Given the description of an element on the screen output the (x, y) to click on. 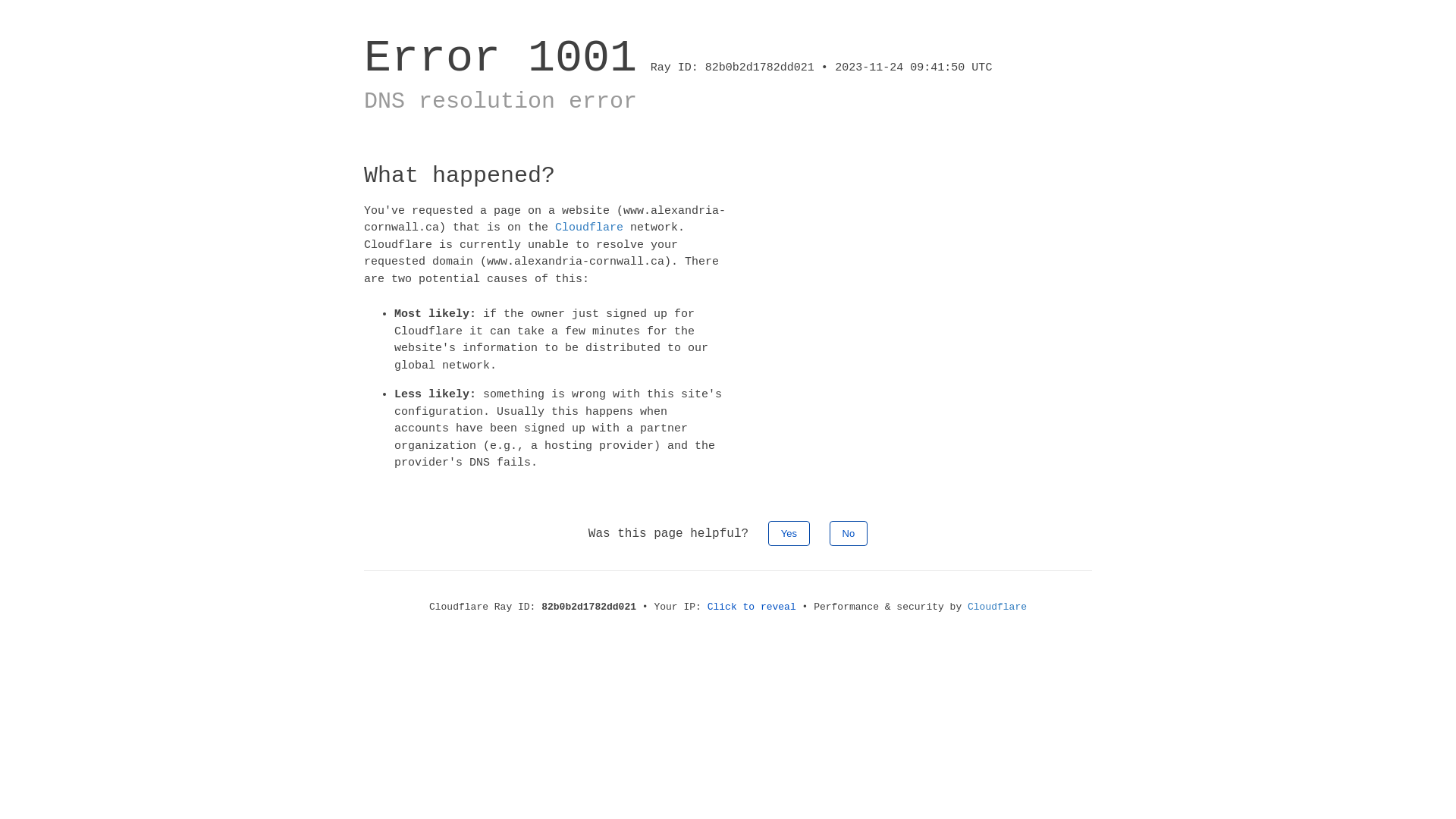
No Element type: text (848, 532)
Cloudflare Element type: text (996, 605)
Yes Element type: text (788, 532)
Click to reveal Element type: text (751, 605)
Cloudflare Element type: text (589, 227)
